Given the description of an element on the screen output the (x, y) to click on. 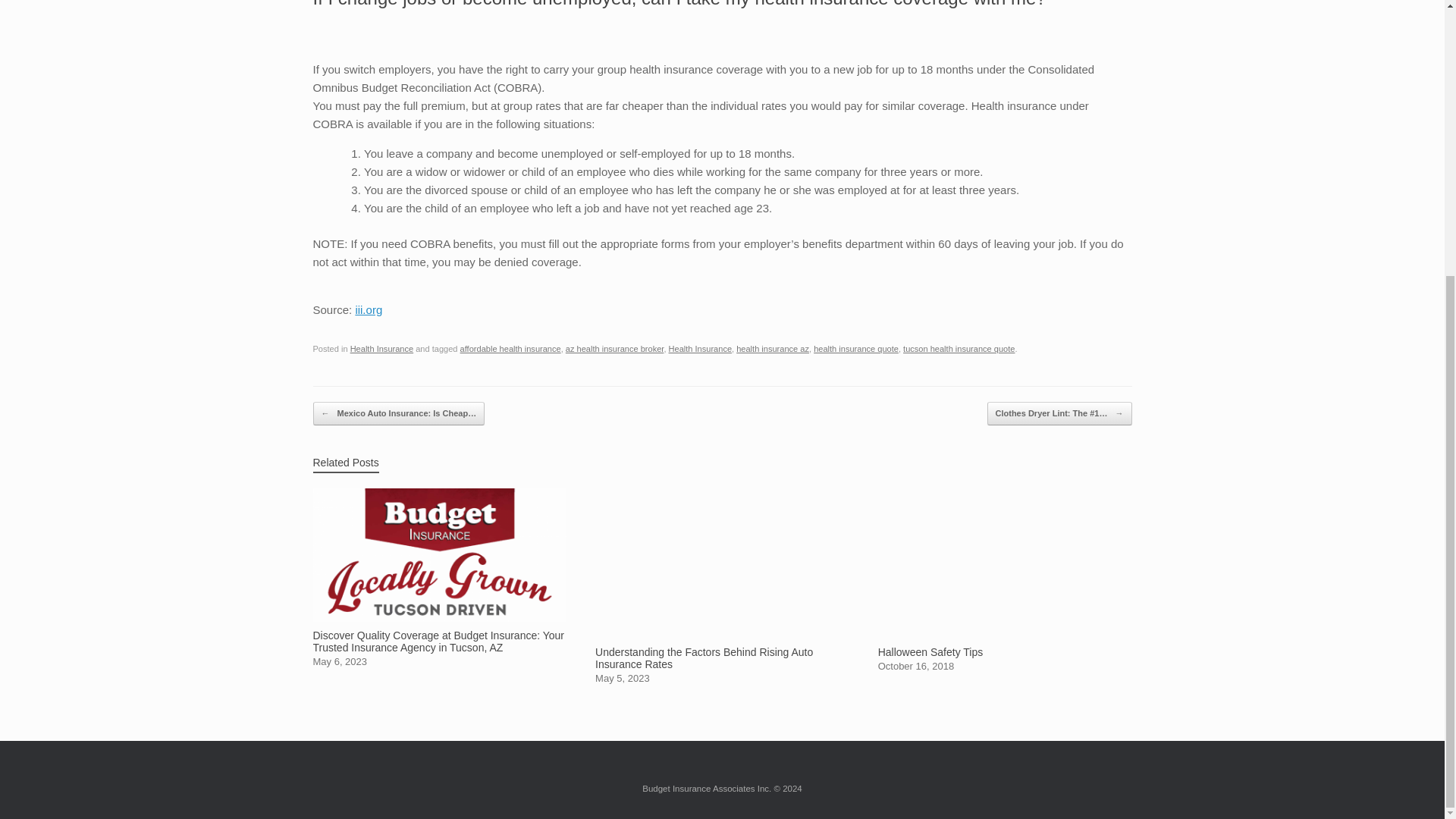
Understanding the Factors Behind Rising Auto Insurance Rates (721, 586)
Halloween Safety Tips (1004, 580)
